Given the description of an element on the screen output the (x, y) to click on. 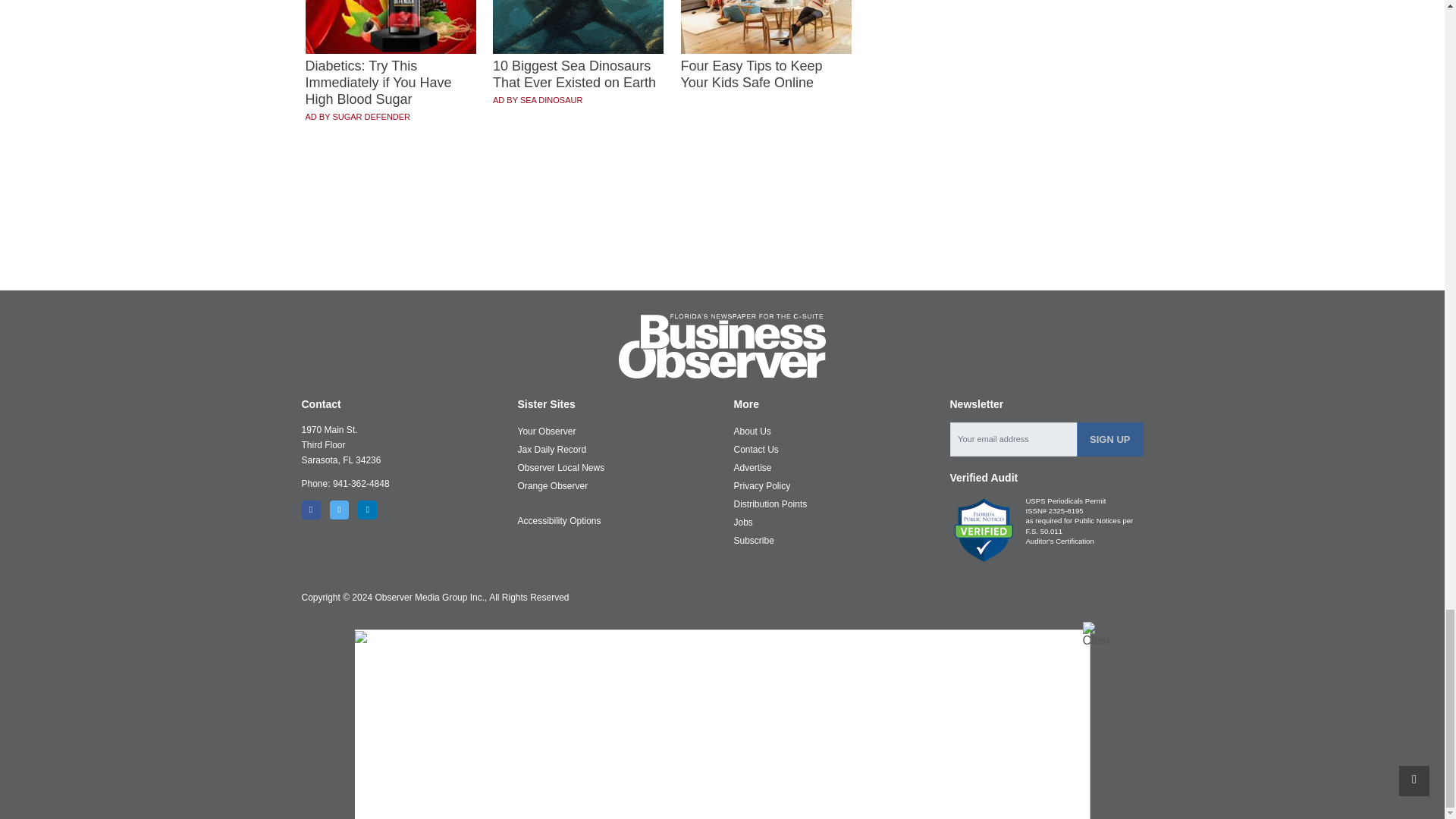
3rd party ad content (722, 234)
